Given the description of an element on the screen output the (x, y) to click on. 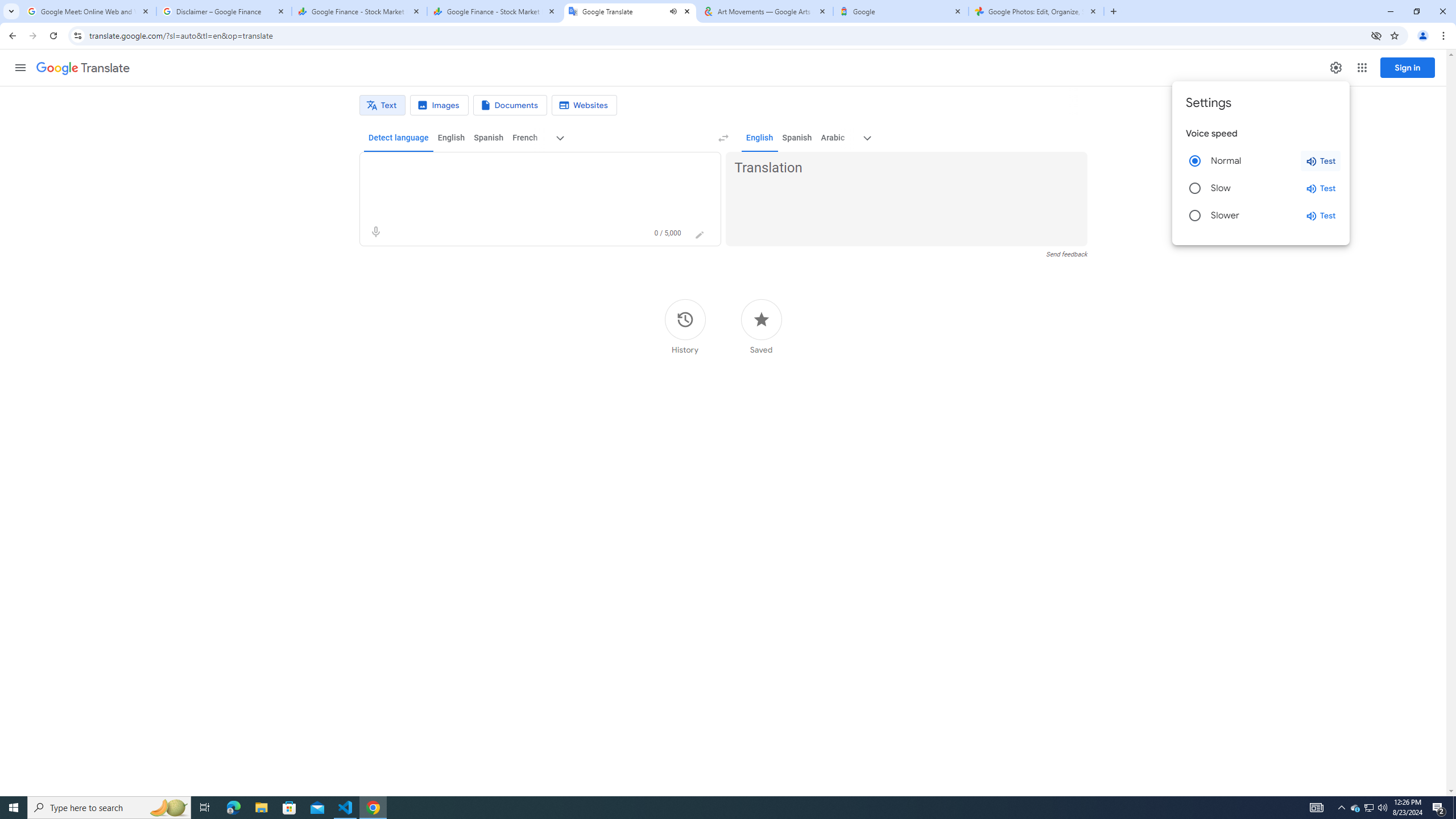
More source languages (560, 137)
Main menu (20, 67)
Source text (529, 167)
